Given the description of an element on the screen output the (x, y) to click on. 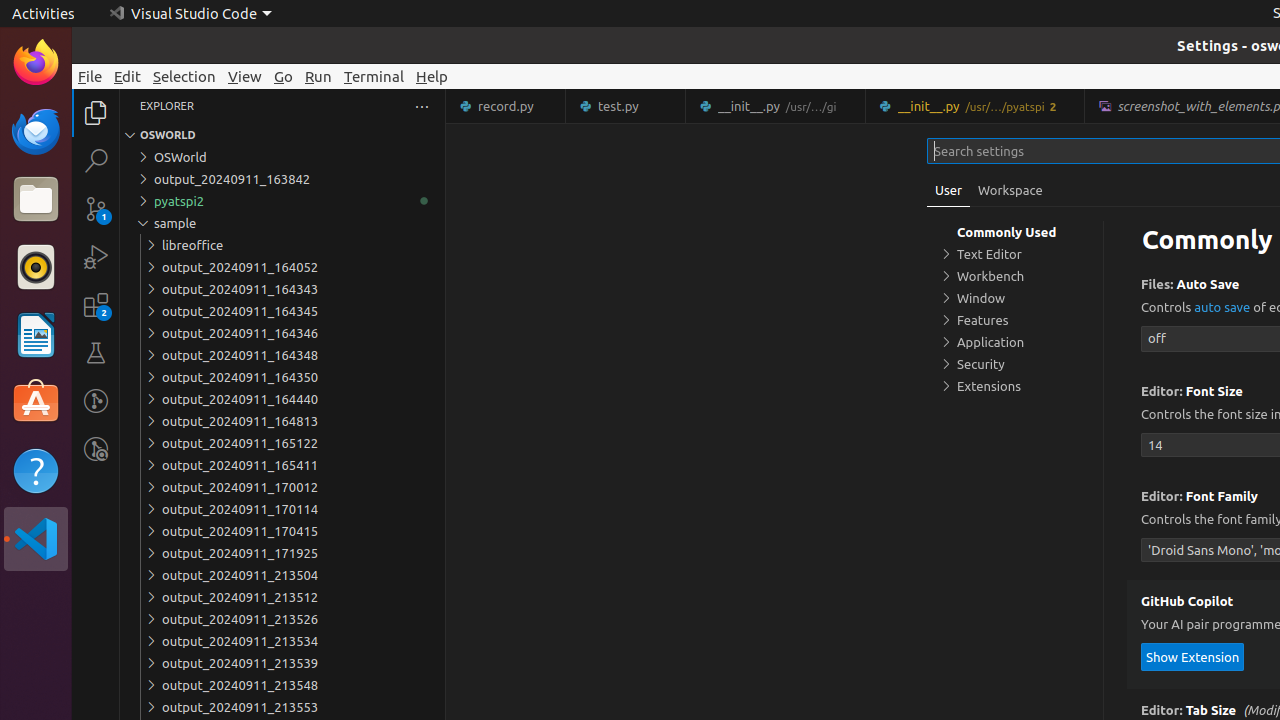
Workbench, group Element type: tree-item (1015, 276)
Testing Element type: page-tab (96, 353)
GitLens Inspect Element type: page-tab (96, 449)
record.py Element type: page-tab (506, 106)
